Given the description of an element on the screen output the (x, y) to click on. 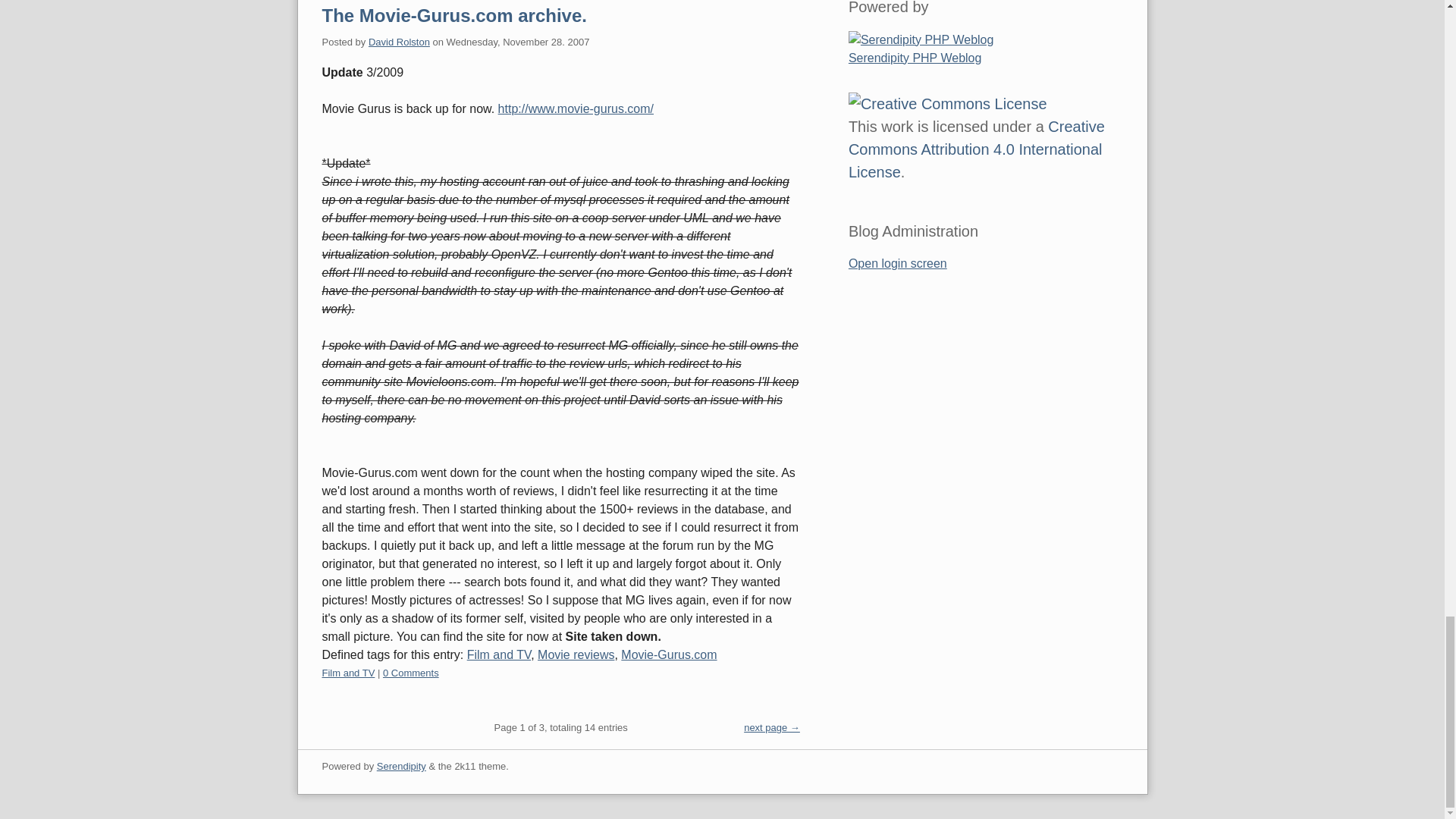
Film and TV (499, 654)
Movie reviews (575, 654)
